Given the description of an element on the screen output the (x, y) to click on. 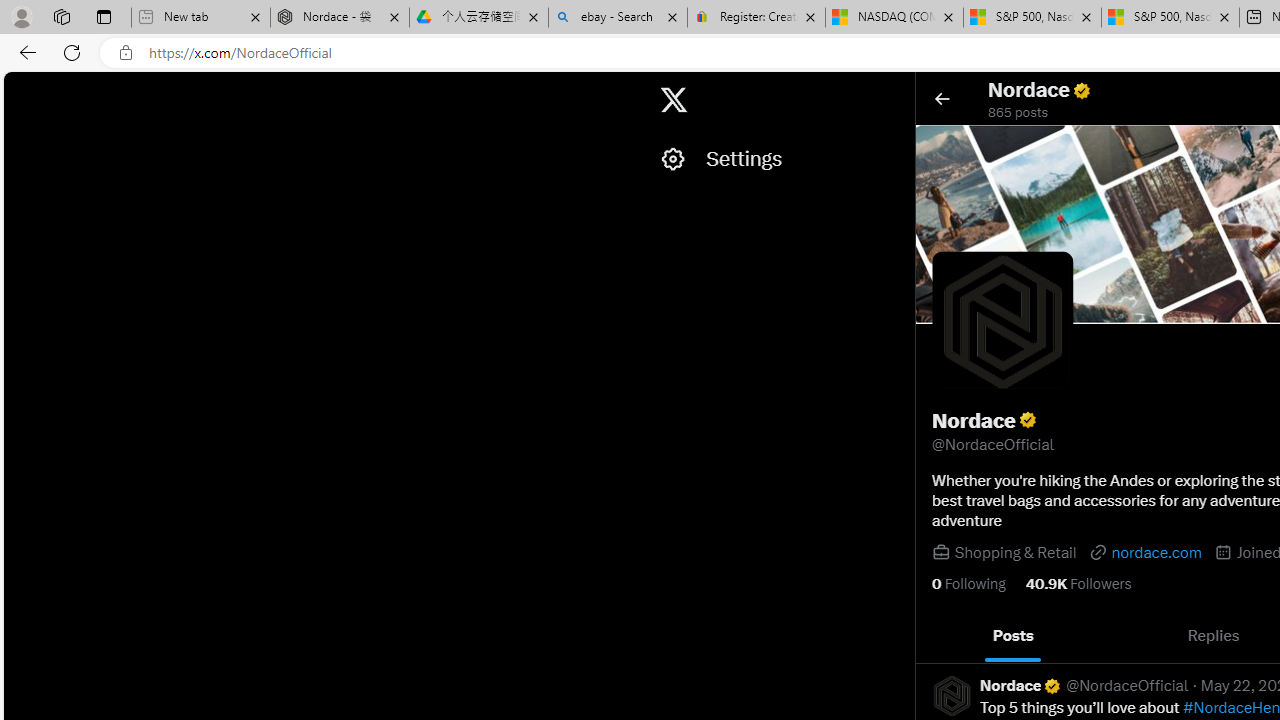
Skip to trending (21, 90)
Previous (938, 636)
